Given the description of an element on the screen output the (x, y) to click on. 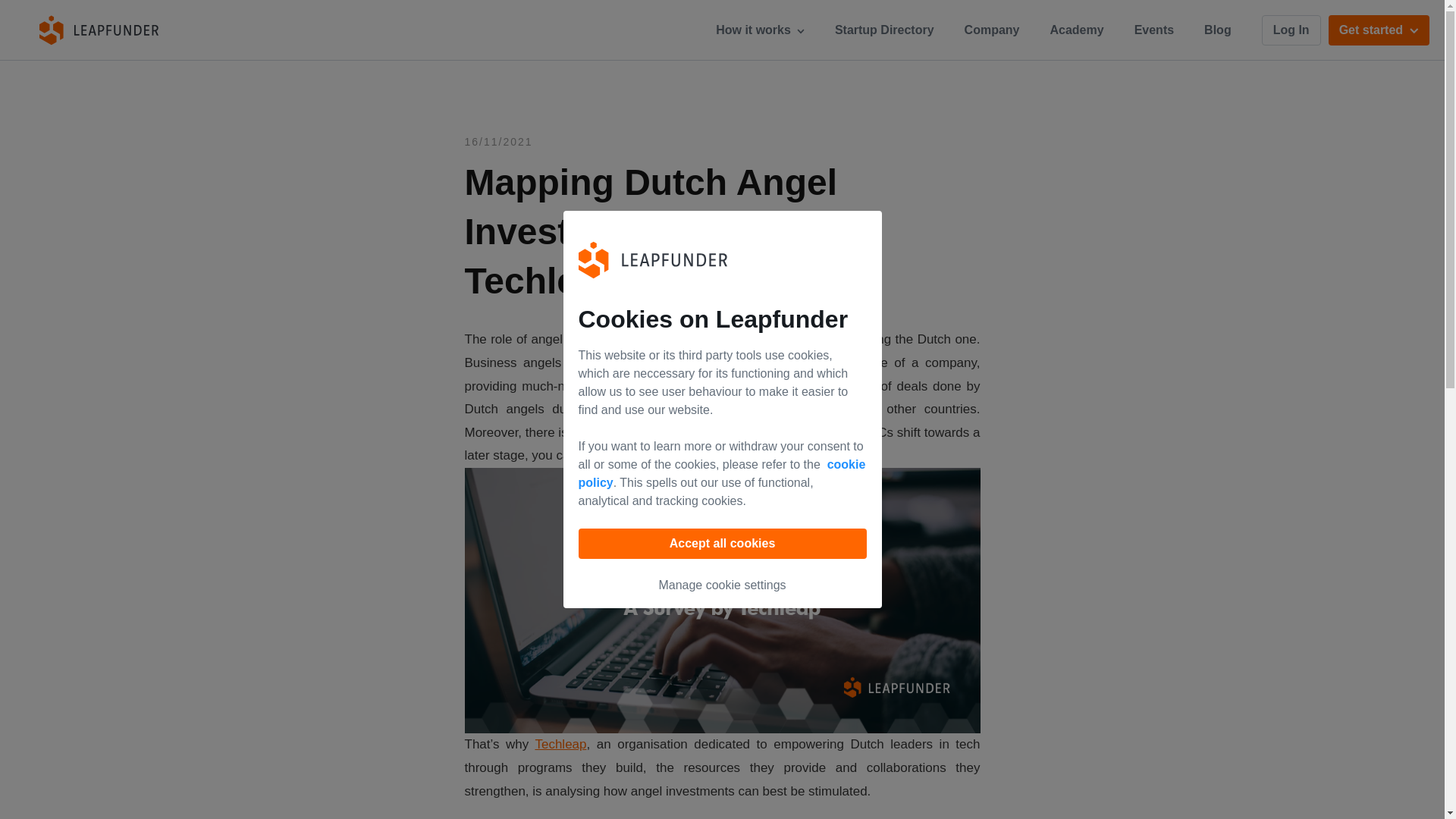
Startup Directory (884, 29)
Academy (1076, 29)
cookie policy (721, 472)
Techleap (560, 744)
Get started   (1378, 30)
Company (991, 29)
this blog (725, 454)
Log In (1291, 30)
Manage cookie settings (722, 584)
